Given the description of an element on the screen output the (x, y) to click on. 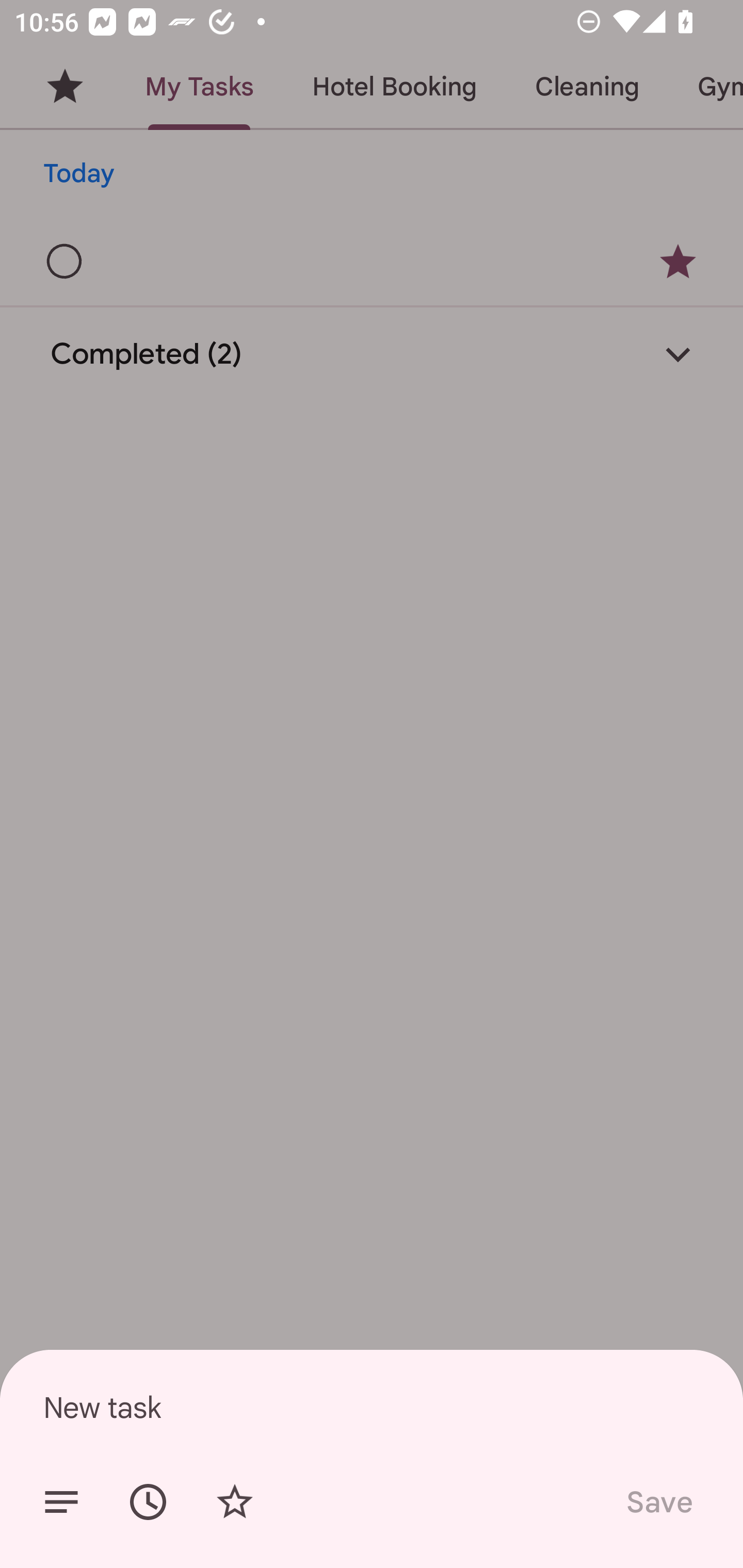
New task (371, 1407)
Save (659, 1501)
Add details (60, 1501)
Set date/time (147, 1501)
Add star (234, 1501)
